Given the description of an element on the screen output the (x, y) to click on. 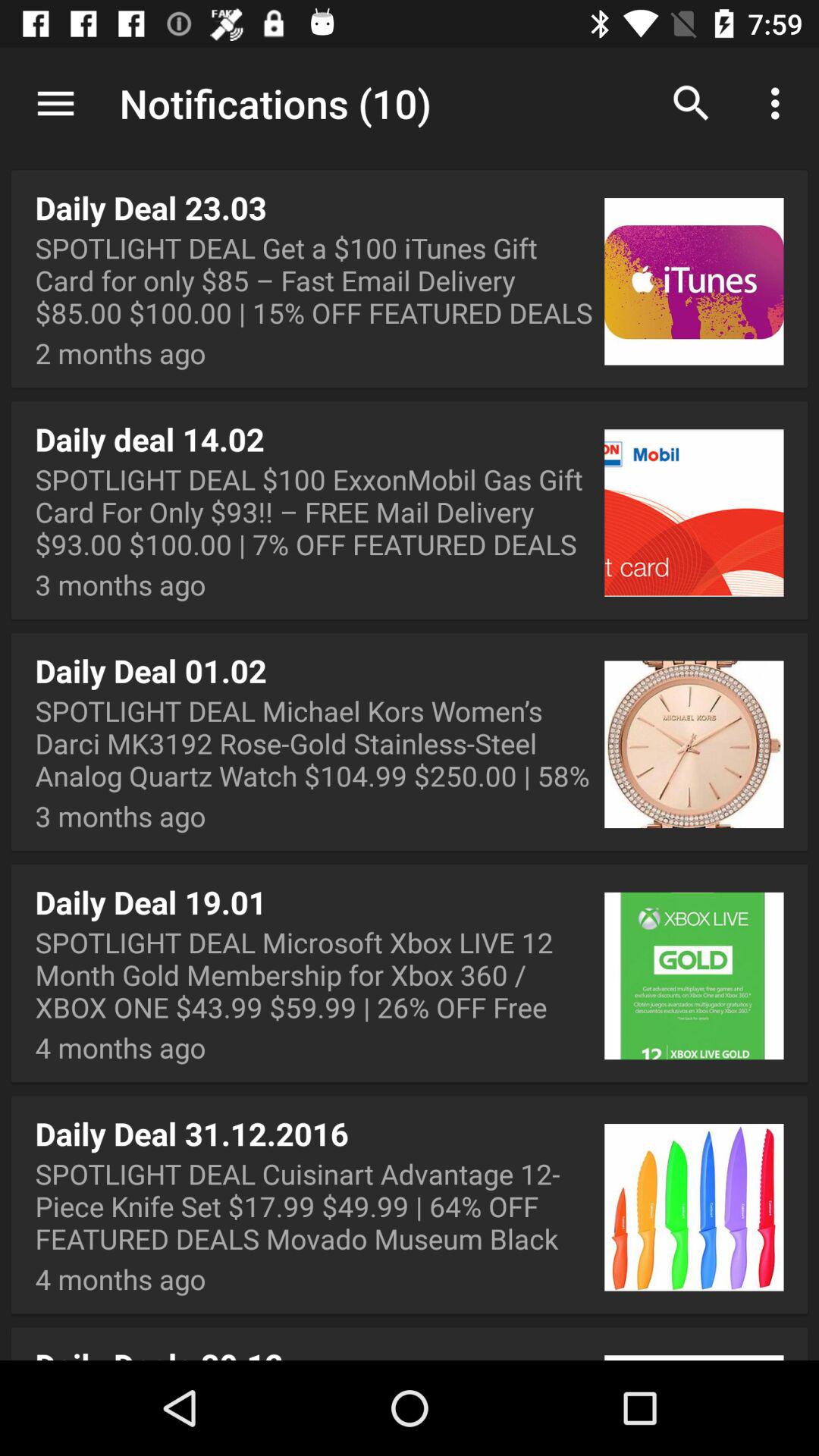
click the app to the left of notifications (10) (55, 103)
